Given the description of an element on the screen output the (x, y) to click on. 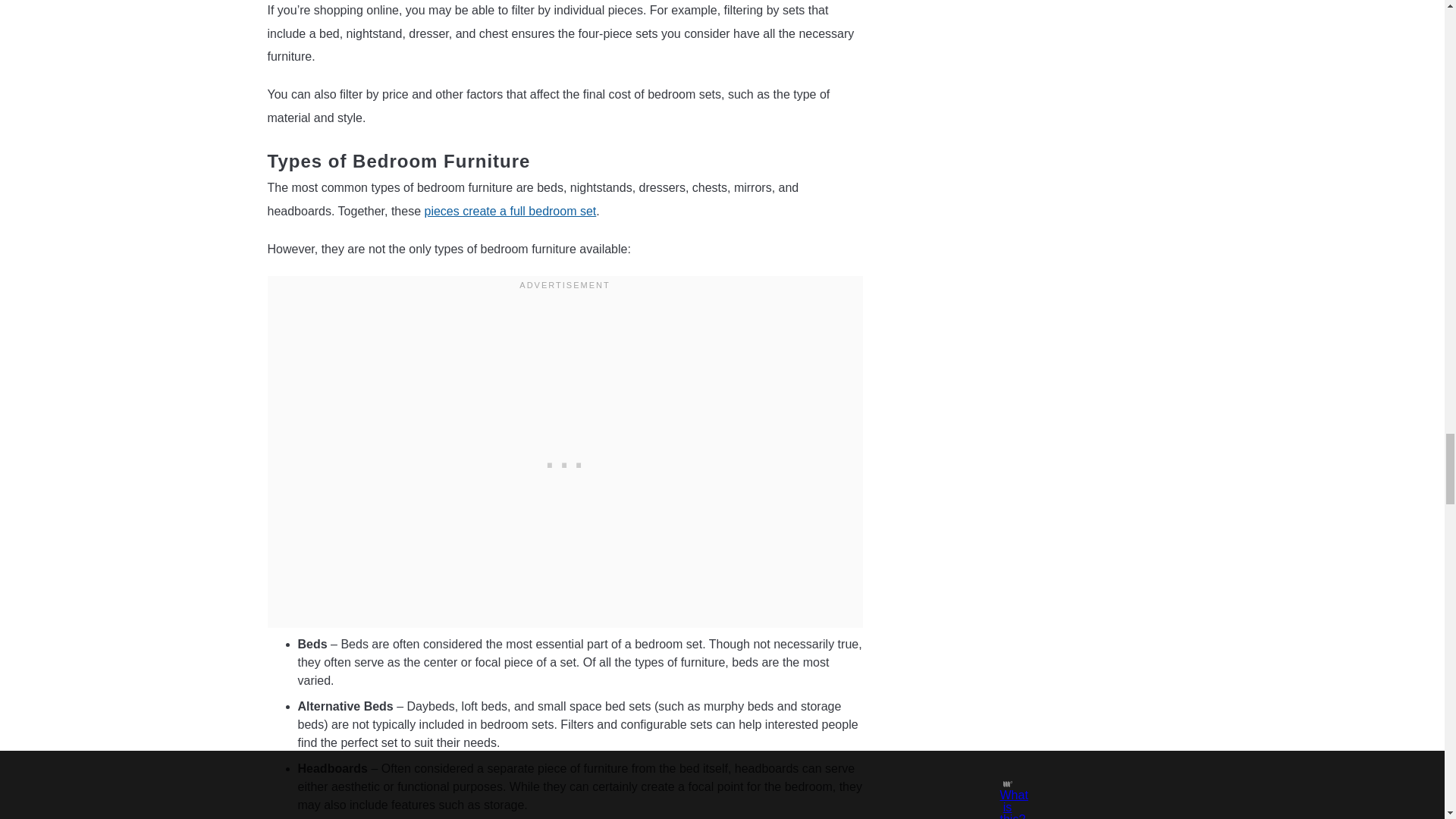
pieces create a full bedroom set (509, 210)
